Given the description of an element on the screen output the (x, y) to click on. 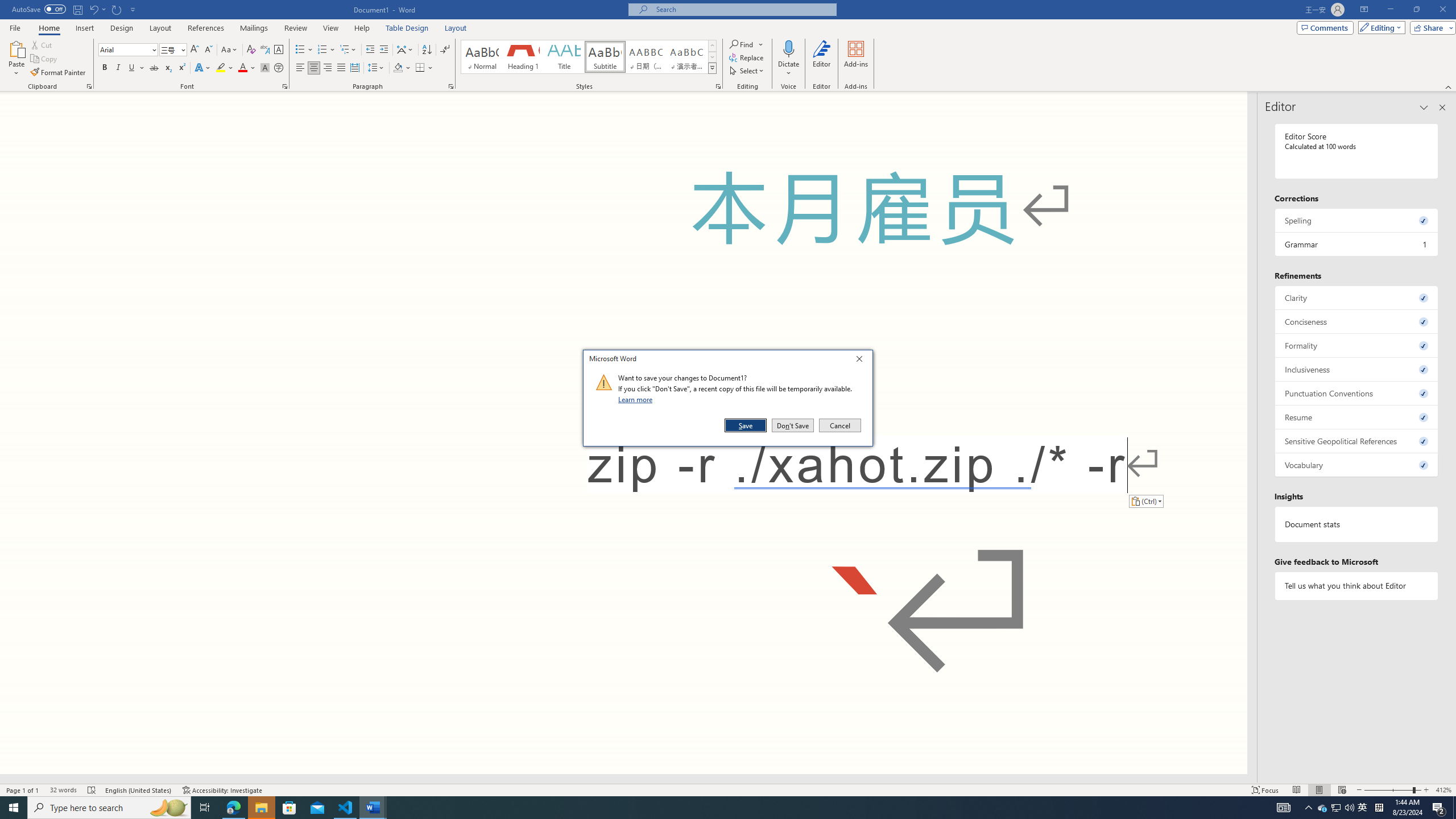
Don't Save (792, 425)
Tray Input Indicator - Chinese (Simplified, China) (1378, 807)
Page Number Page 1 of 1 (22, 790)
Font Color Red (241, 67)
Clarity, 0 issues. Press space or enter to review items. (1356, 297)
